Given the description of an element on the screen output the (x, y) to click on. 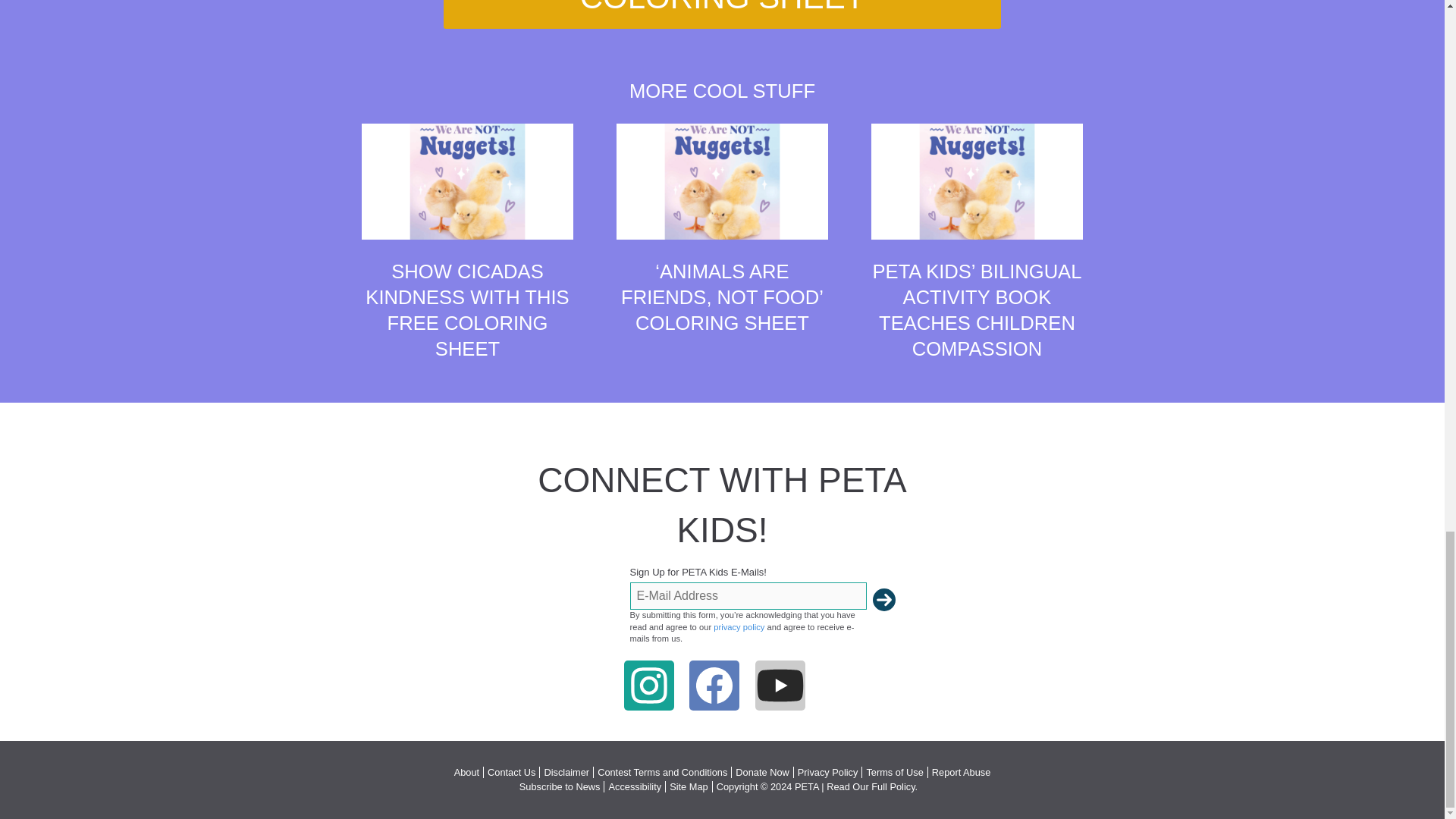
SHOW CICADAS KINDNESS WITH THIS FREE COLORING SHEET (467, 310)
PETA Kids on YouTube (780, 685)
PETA Kids on Instagram (647, 685)
PETA Kids on Facebook (713, 685)
